Given the description of an element on the screen output the (x, y) to click on. 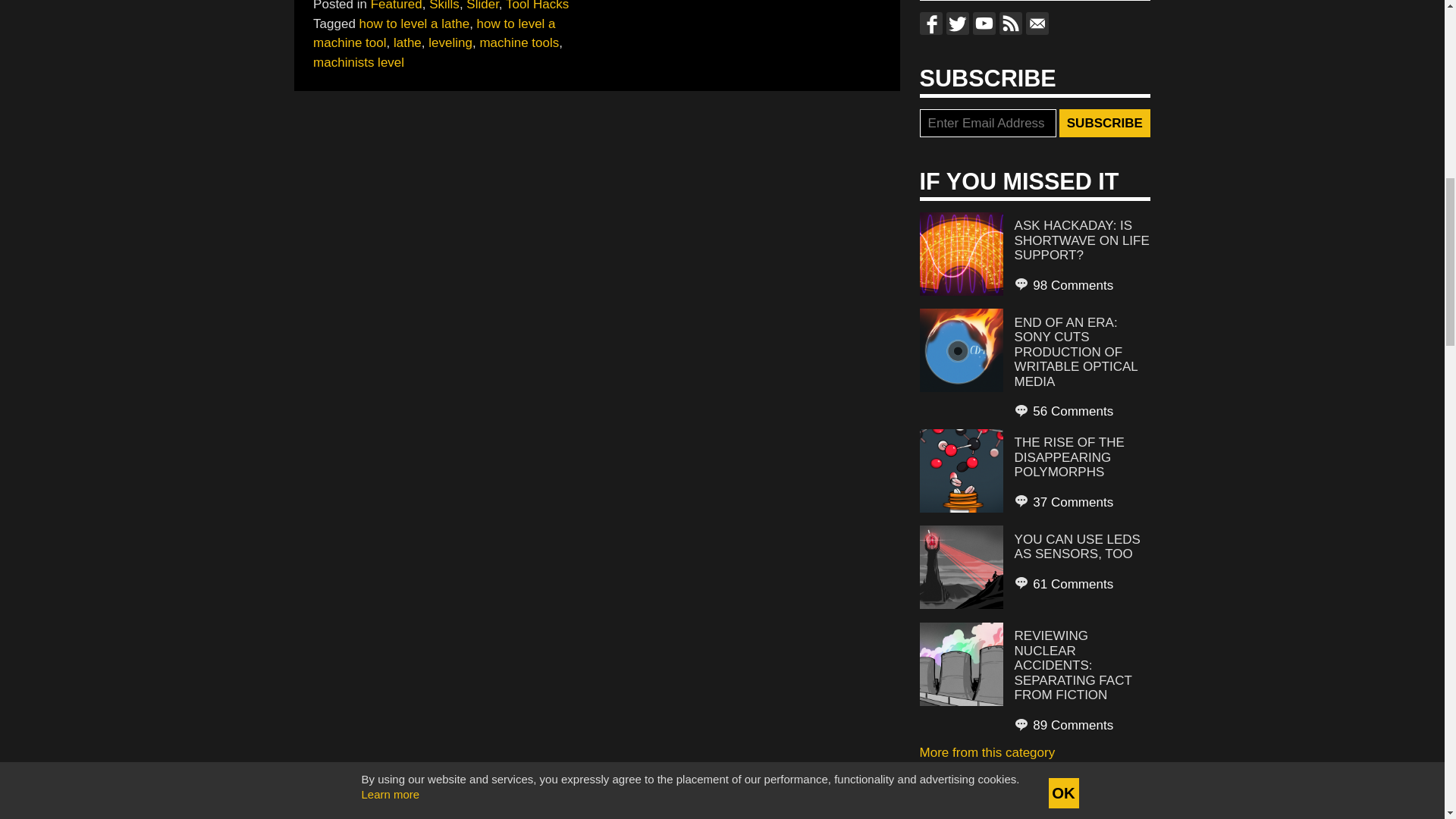
Featured (396, 5)
Skills (444, 5)
Slider (482, 5)
machine tools (519, 42)
lathe (407, 42)
how to level a lathe (414, 23)
how to level a machine tool (433, 33)
Subscribe (1104, 123)
machinists level (358, 61)
Tool Hacks (537, 5)
leveling (449, 42)
